Given the description of an element on the screen output the (x, y) to click on. 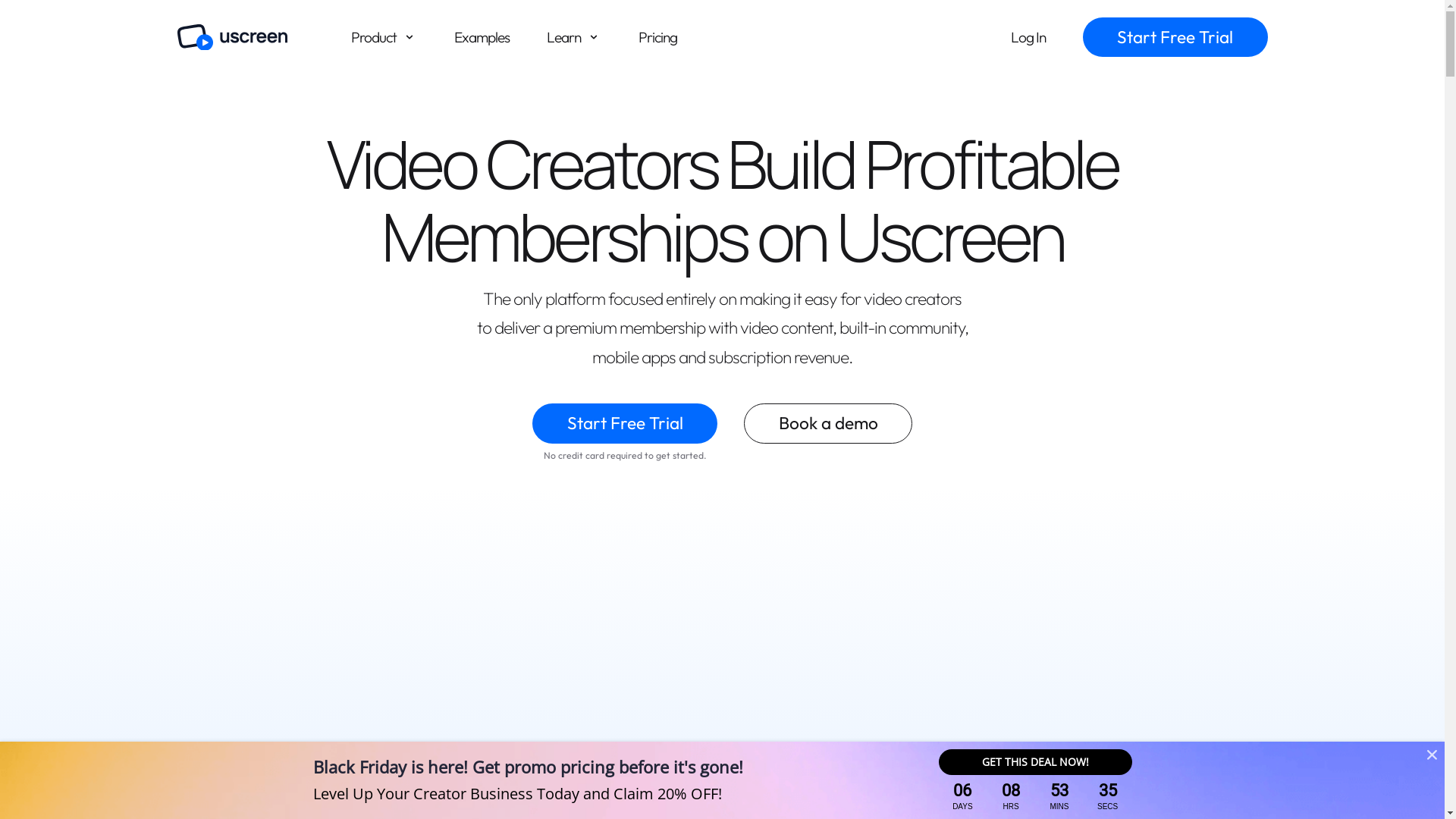
GET THIS DEAL NOW! Element type: text (1035, 762)
Start Free Trial Element type: text (1174, 37)
Book a demo Element type: text (827, 423)
Examples Element type: text (480, 36)
Product Element type: text (383, 36)
Learn Element type: text (573, 36)
Start Free Trial Element type: text (624, 423)
Pricing Element type: text (657, 36)
Log In Element type: text (1027, 37)
